Given the description of an element on the screen output the (x, y) to click on. 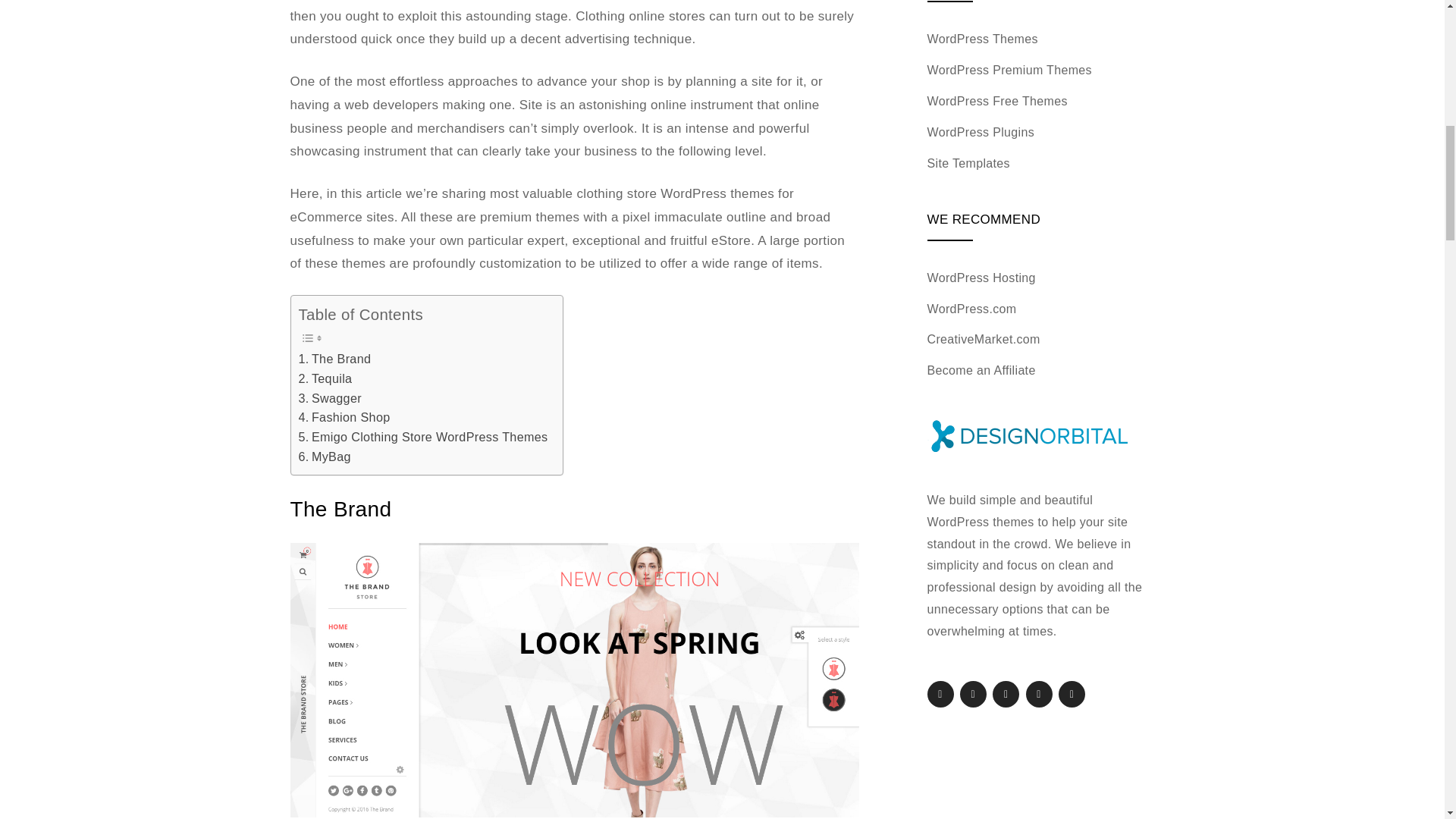
MyBag (324, 456)
MyBag (324, 456)
Fashion Shop (344, 417)
Tequila (325, 379)
Fashion Shop (344, 417)
Swagger (329, 397)
Emigo Clothing Store WordPress Themes (423, 437)
Emigo Clothing Store WordPress Themes (423, 437)
The Brand (334, 359)
The Brand (334, 359)
